Given the description of an element on the screen output the (x, y) to click on. 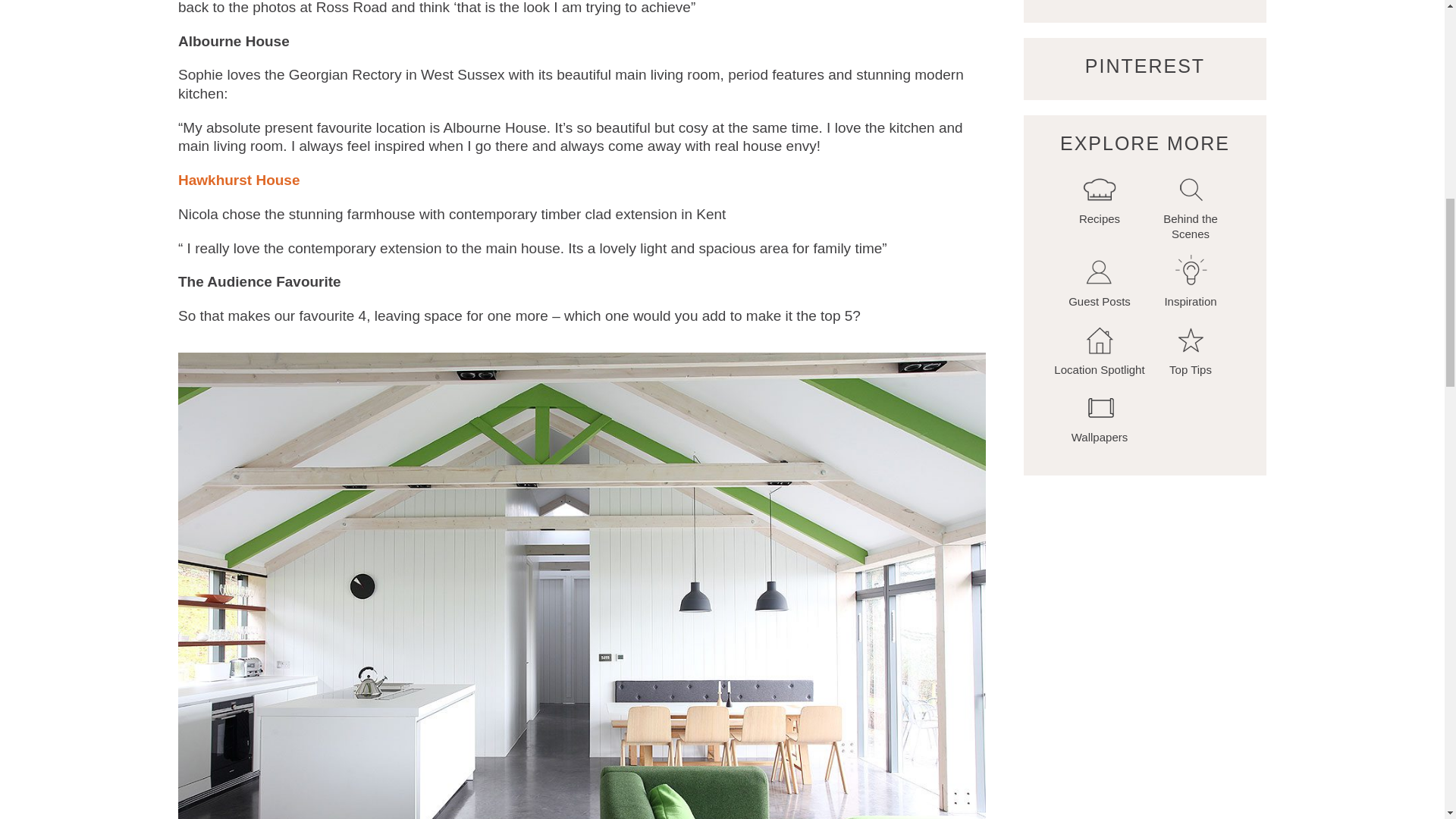
Behind the Scenes (1190, 204)
Inspiration (1190, 280)
Wallpapers (1099, 416)
Guest Posts (1099, 280)
Hawkhurst House (238, 179)
Top Tips (1190, 348)
Recipes (1099, 197)
Location Spotlight (1099, 348)
